Given the description of an element on the screen output the (x, y) to click on. 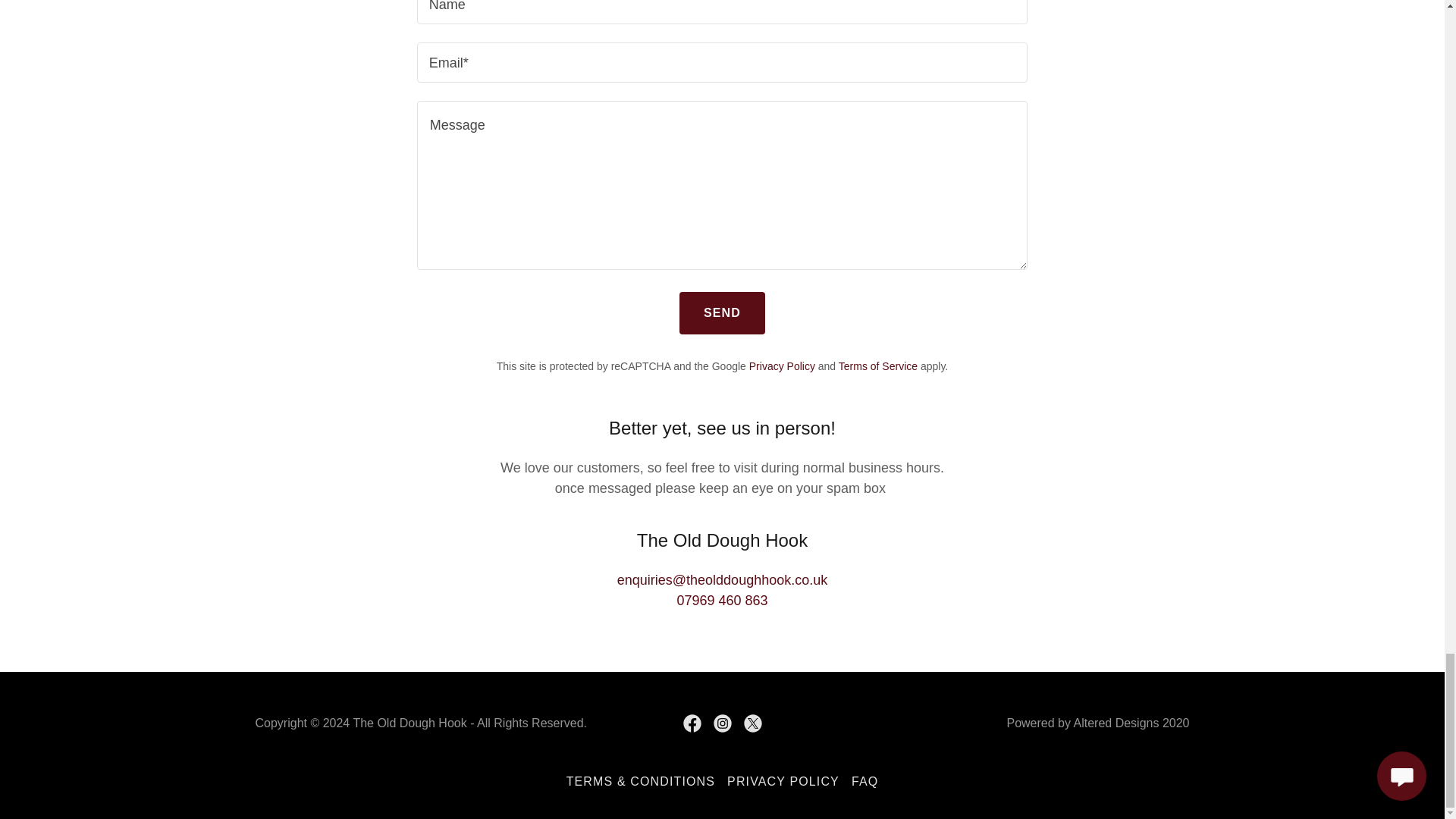
SEND (722, 312)
Terms of Service (877, 366)
Privacy Policy (782, 366)
07969 460 863 (722, 600)
